Given the description of an element on the screen output the (x, y) to click on. 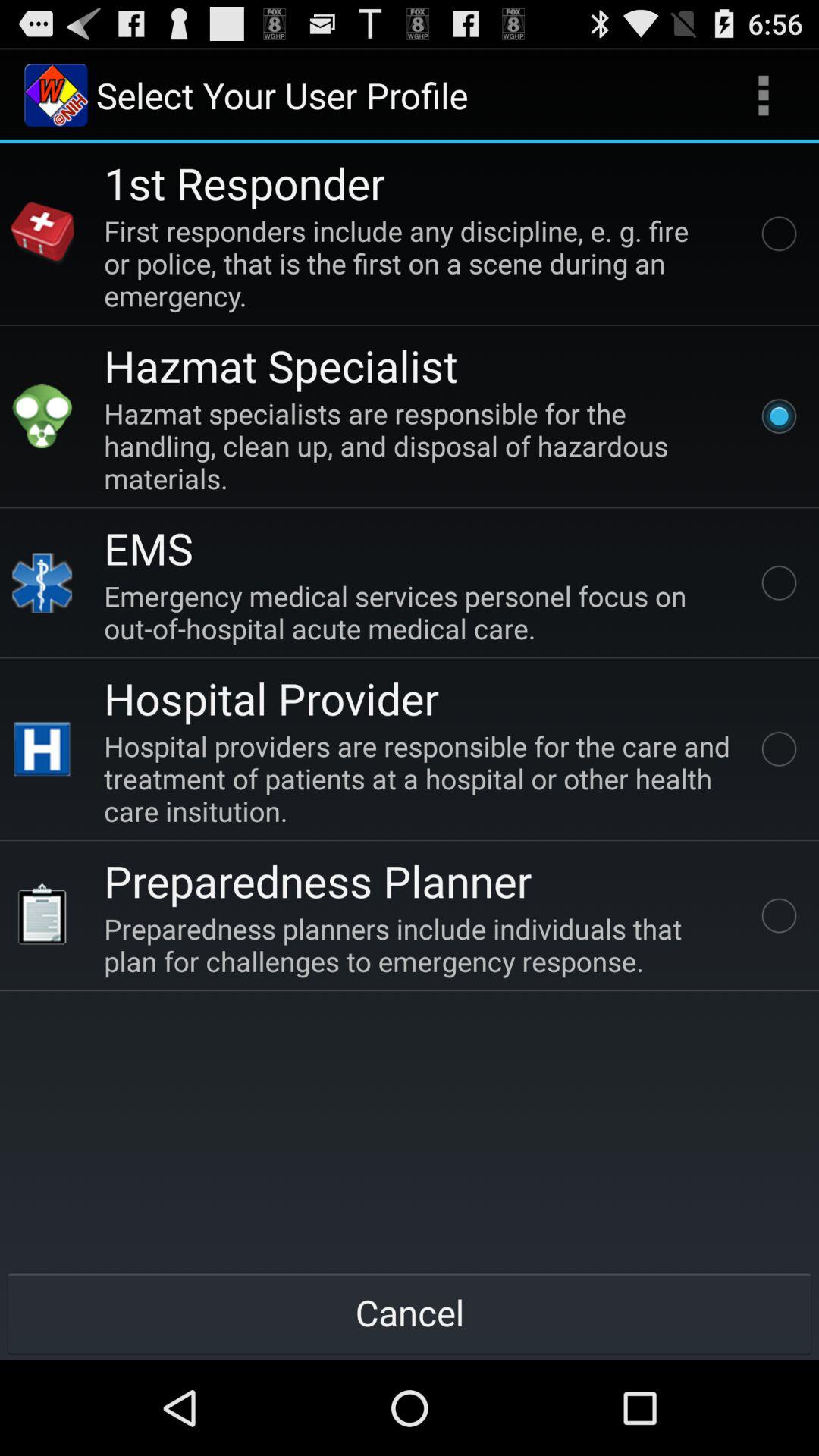
launch the hazmat specialists are item (420, 445)
